Given the description of an element on the screen output the (x, y) to click on. 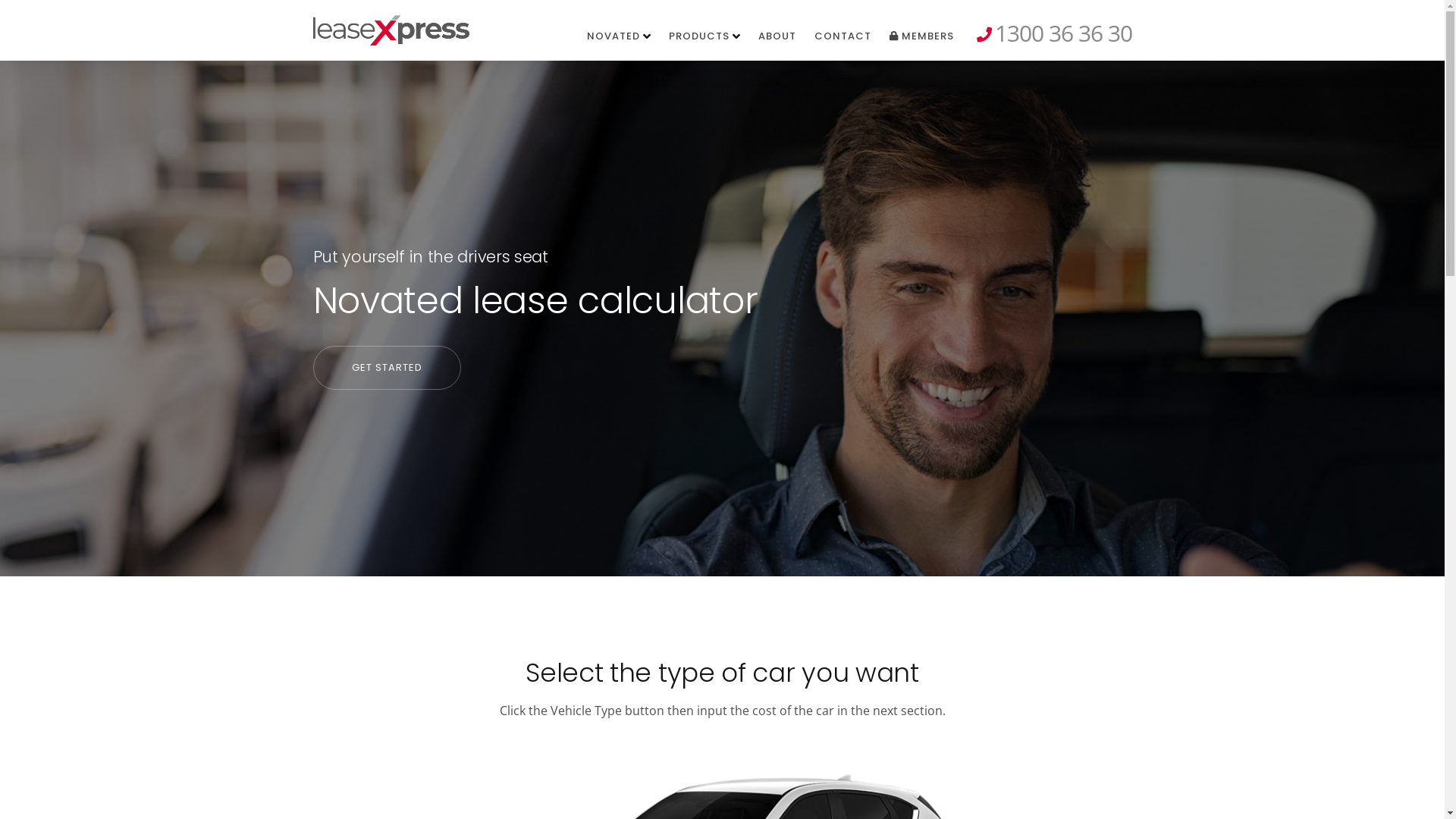
1300 36 36 30 Element type: text (1054, 36)
GET STARTED Element type: text (386, 367)
CONTACT Element type: text (842, 36)
MEMBERS Element type: text (920, 36)
ABOUT Element type: text (777, 36)
PRODUCTS Element type: text (704, 36)
NOVATED Element type: text (618, 36)
